Given the description of an element on the screen output the (x, y) to click on. 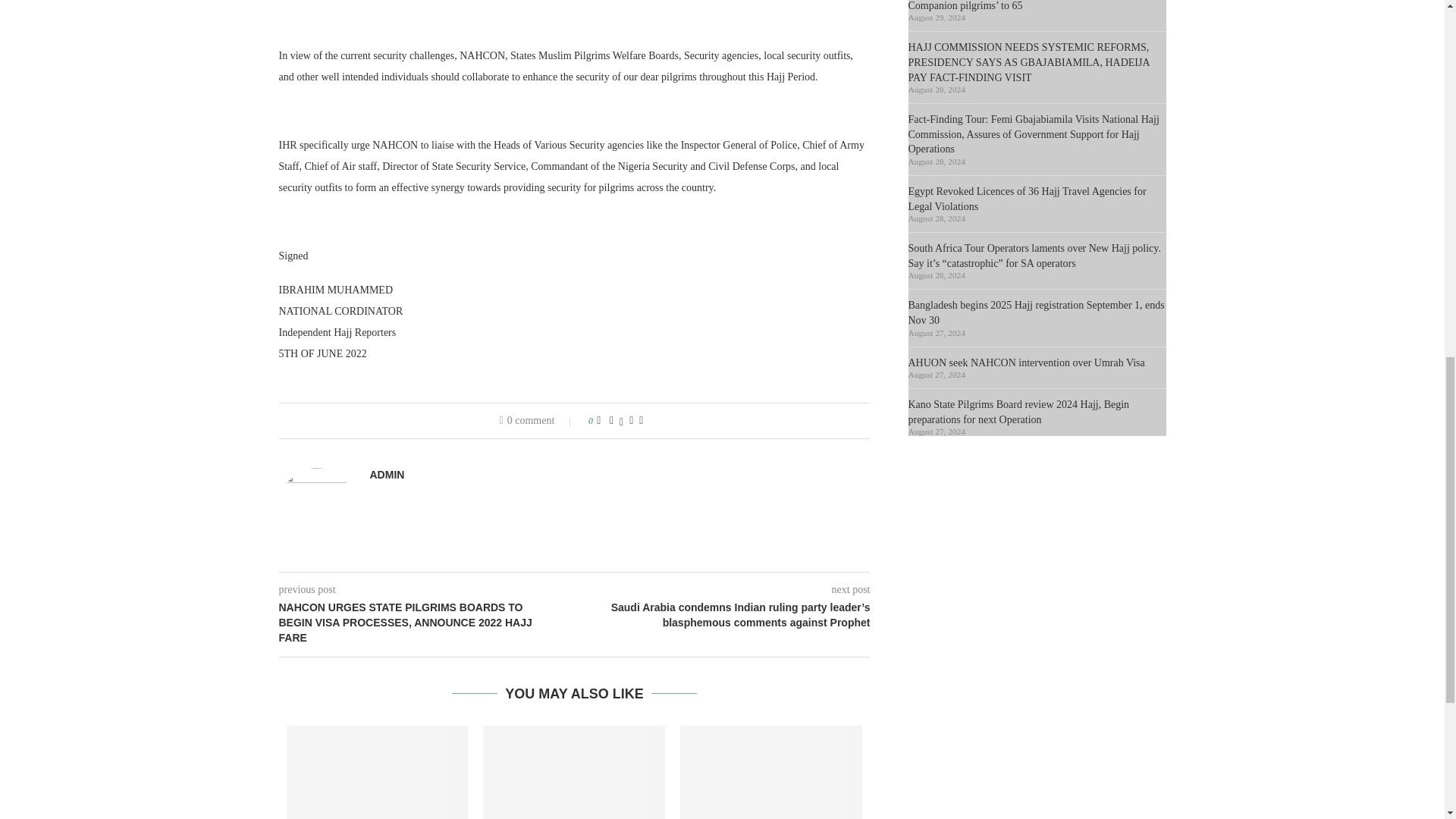
AHUON seek NAHCON intervention over Umrah Visa (770, 772)
Author admin (386, 474)
